Given the description of an element on the screen output the (x, y) to click on. 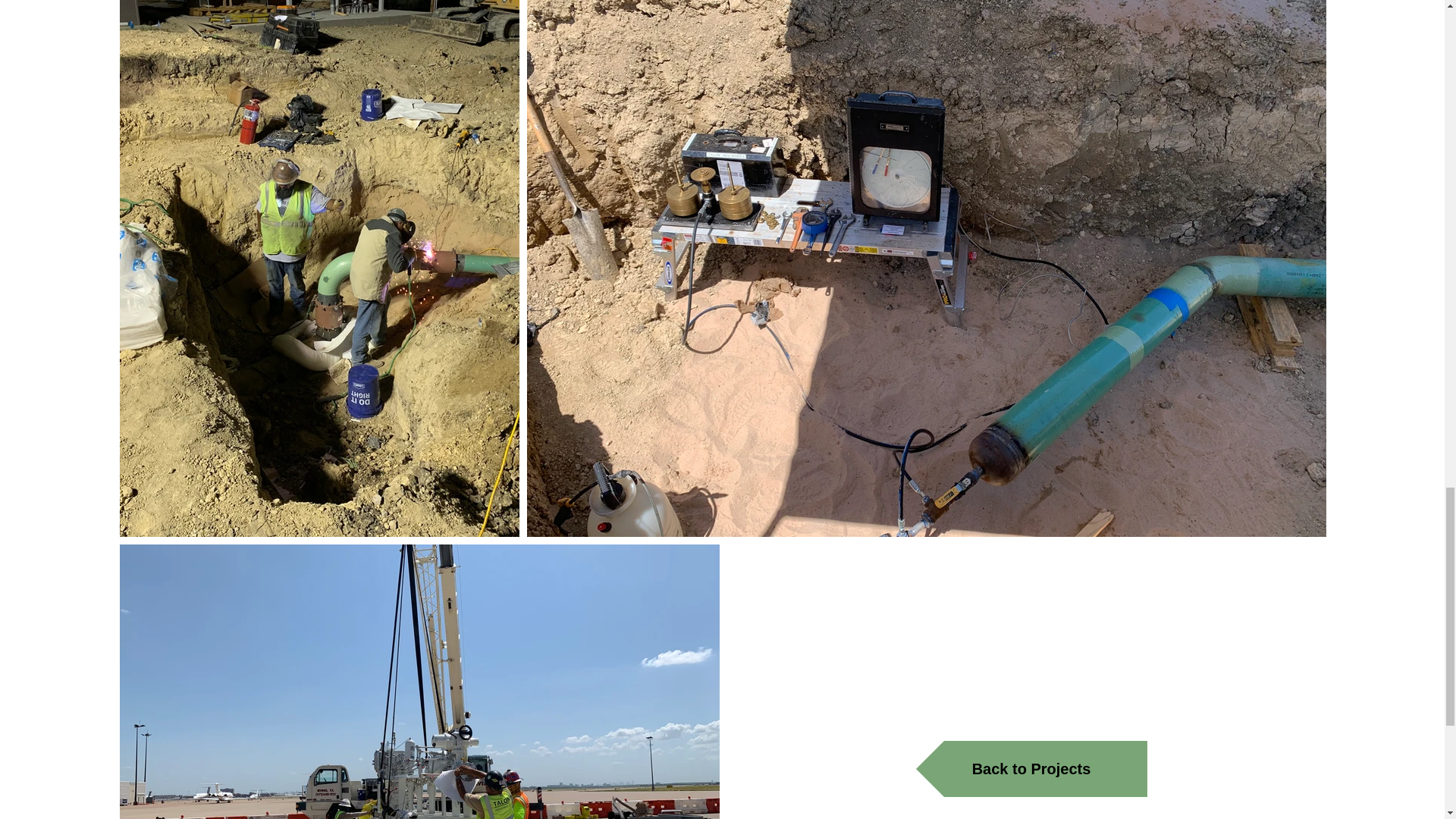
Back to Projects (1031, 768)
